Given the description of an element on the screen output the (x, y) to click on. 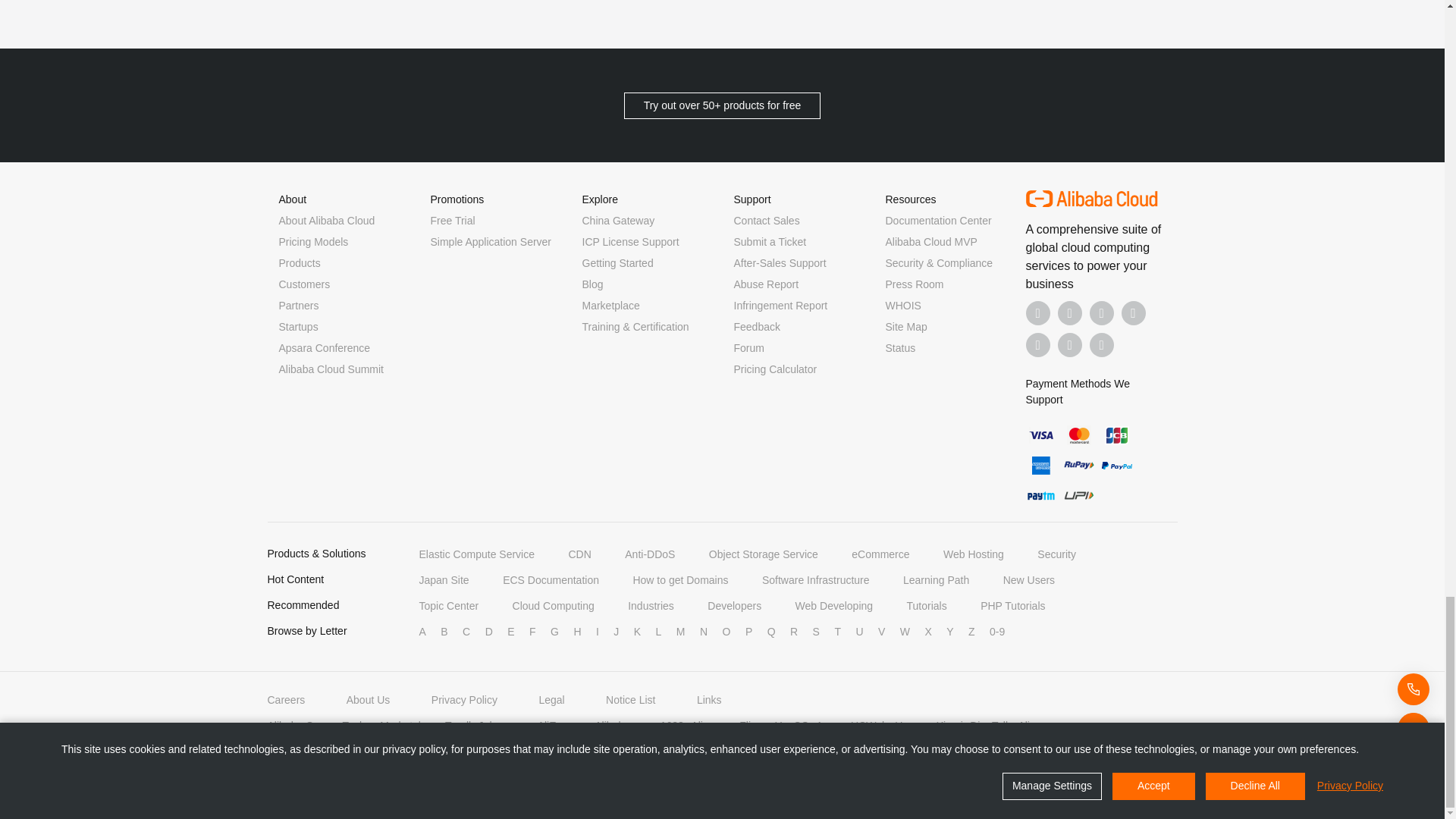
YouTube (1132, 313)
Twitter (1101, 313)
TikTok (1037, 344)
Facebook (1037, 313)
Linkedin (1069, 313)
Call Us Now (1101, 344)
